Given the description of an element on the screen output the (x, y) to click on. 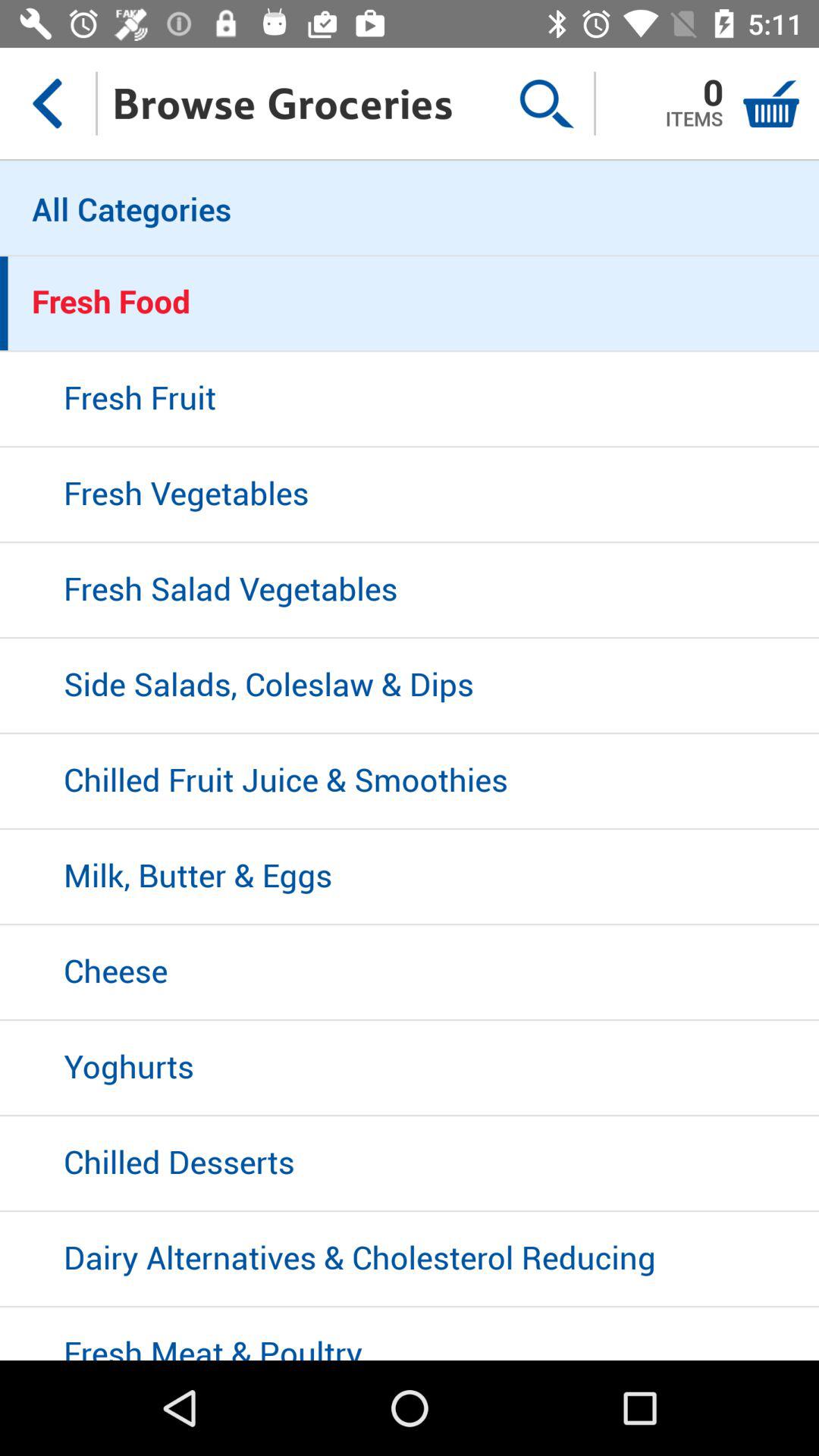
click the item next to the browse groceries item (545, 103)
